Given the description of an element on the screen output the (x, y) to click on. 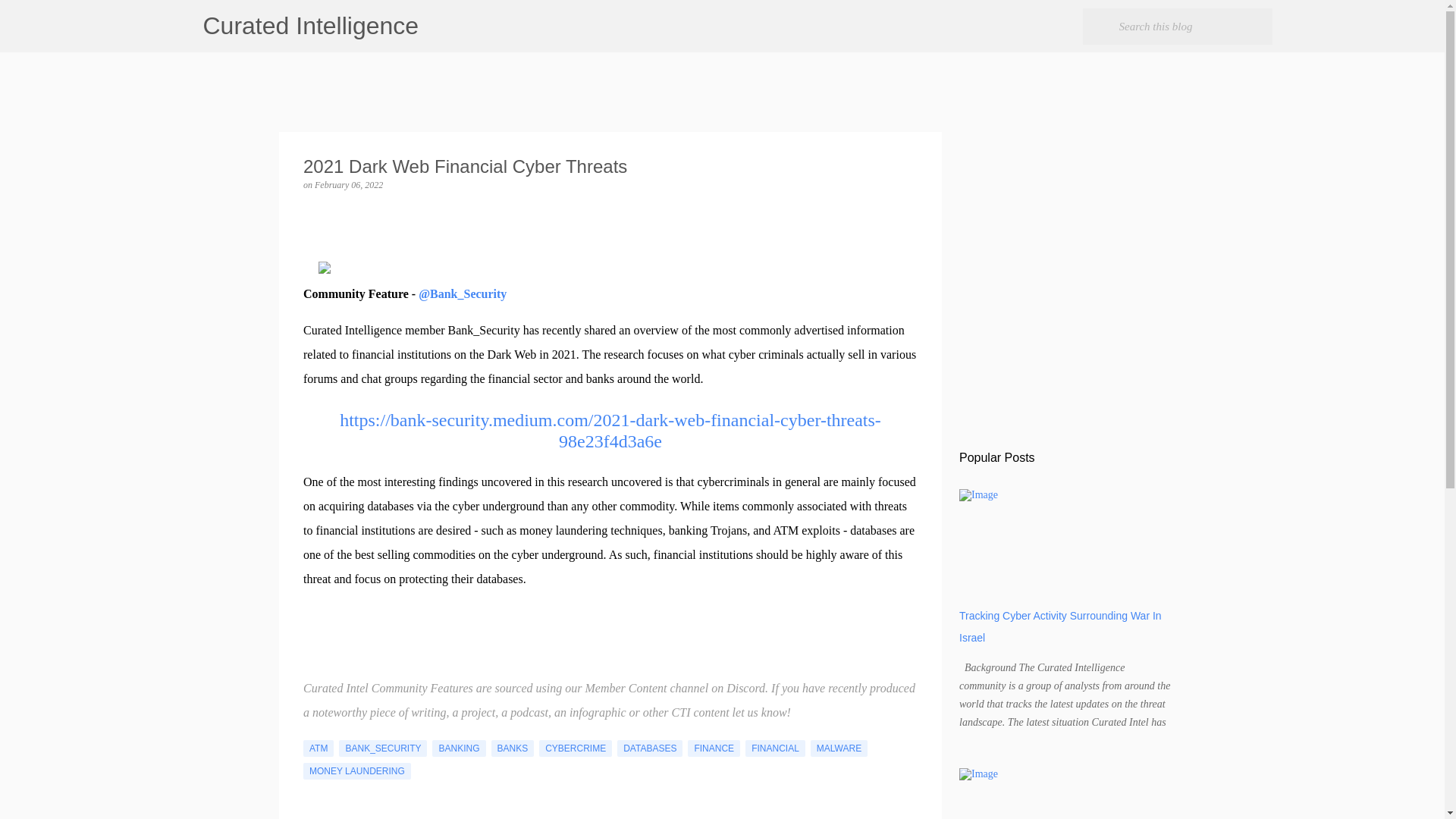
February 06, 2022 (348, 184)
MALWARE (838, 748)
BANKS (513, 748)
FINANCIAL (775, 748)
CYBERCRIME (574, 748)
BANKING (458, 748)
FINANCE (713, 748)
ATM (317, 748)
permanent link (348, 184)
DATABASES (649, 748)
Curated Intelligence (311, 25)
MONEY LAUNDERING (356, 770)
Tracking Cyber Activity Surrounding War In Israel (1060, 626)
